Given the description of an element on the screen output the (x, y) to click on. 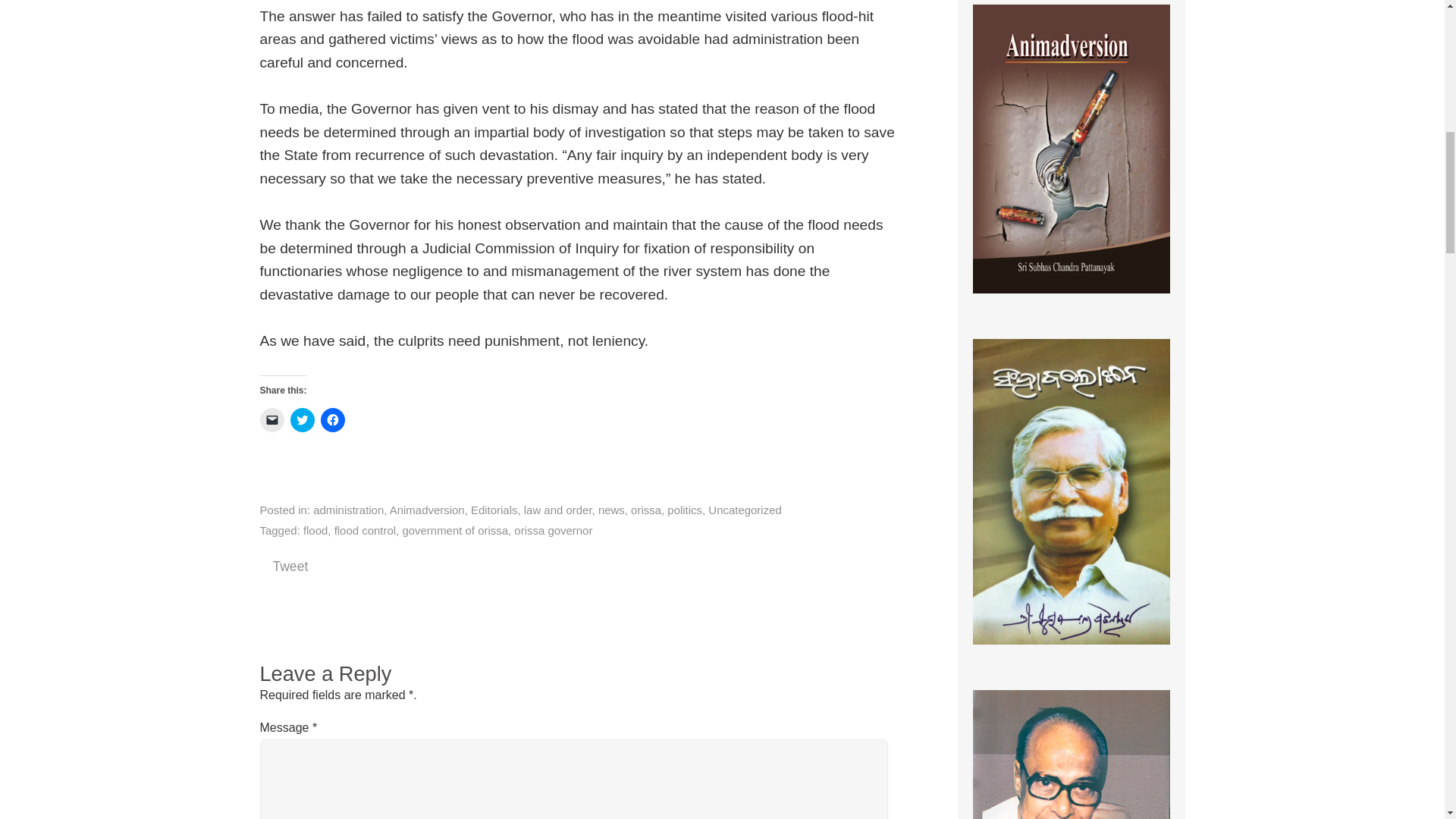
orissa (645, 509)
Click to email a link to a friend (271, 419)
Click to share on Facebook (331, 419)
politics (683, 509)
flood control (365, 530)
Uncategorized (743, 509)
government of orissa (454, 530)
Editorials (494, 509)
orissa governor (552, 530)
Animadversion (427, 509)
